Given the description of an element on the screen output the (x, y) to click on. 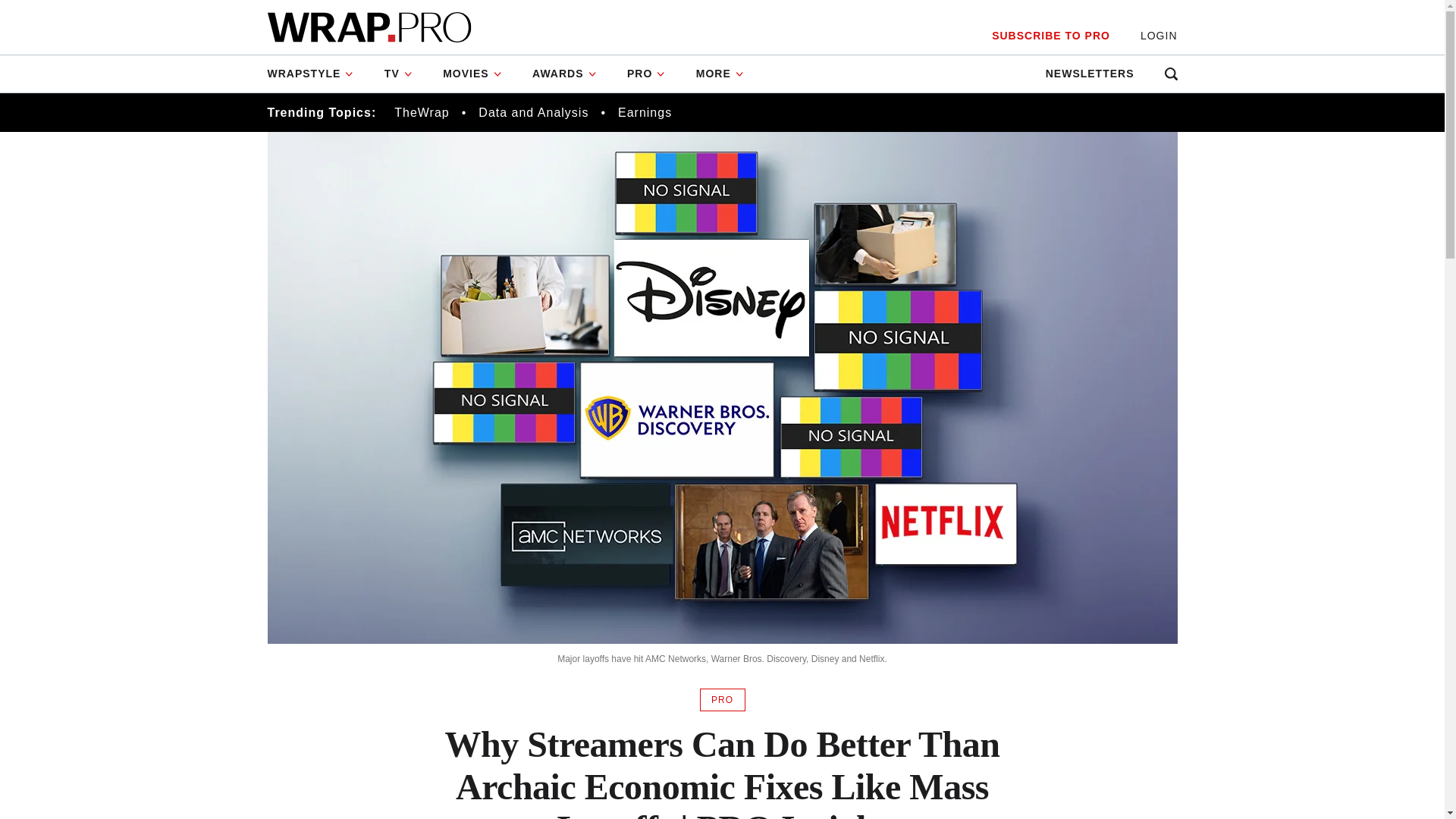
WRAPSTYLE (317, 73)
PRO (646, 73)
TV (398, 73)
MORE (719, 73)
SUBSCRIBE TO PRO (1050, 35)
LOGIN (1158, 35)
AWARDS (563, 73)
MOVIES (472, 73)
